Given the description of an element on the screen output the (x, y) to click on. 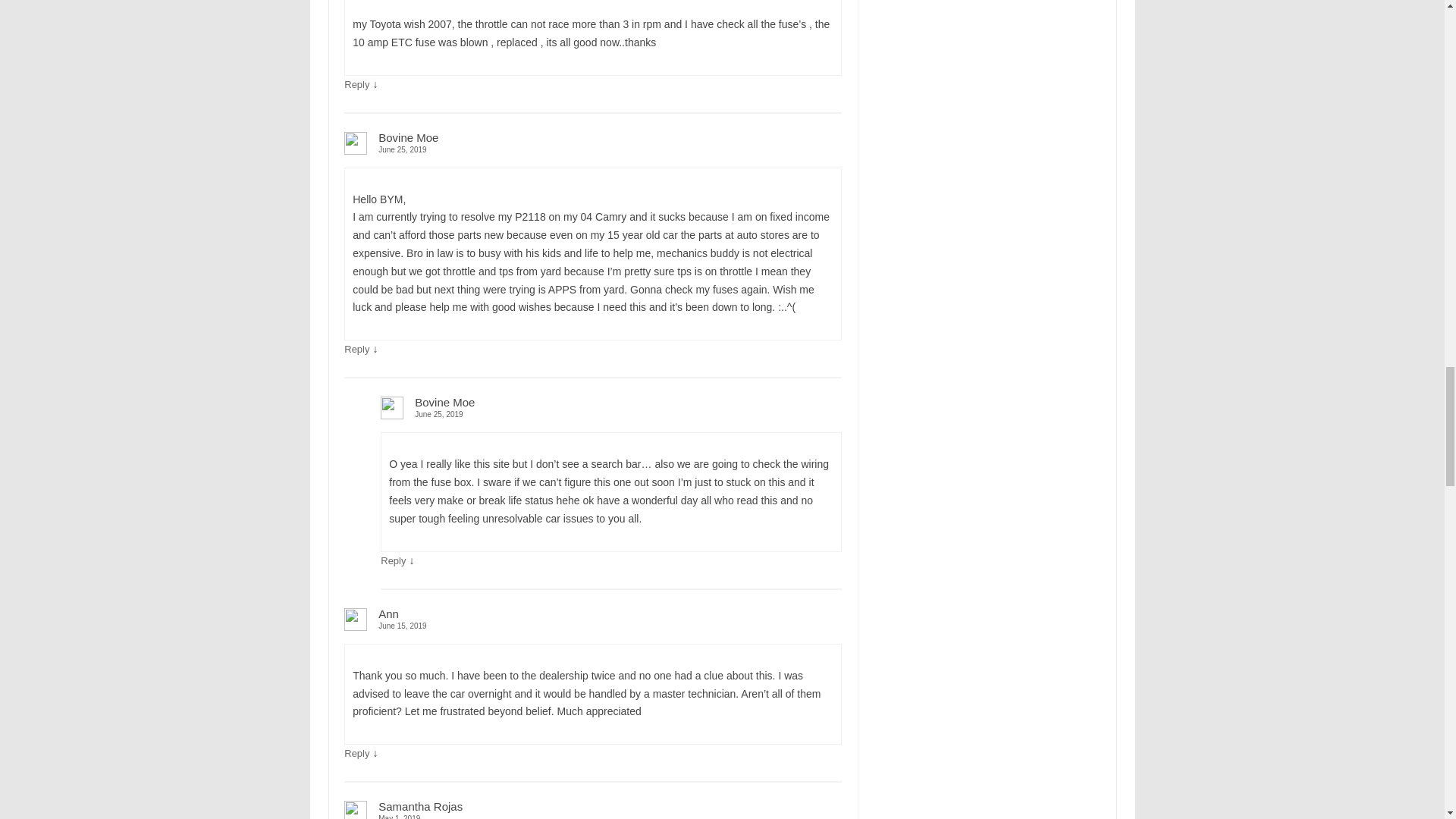
June 15, 2019 (592, 625)
June 25, 2019 (610, 413)
May 1, 2019 (592, 815)
June 25, 2019 (592, 149)
Reply (393, 560)
Reply (356, 753)
Reply (356, 348)
Reply (356, 84)
